Given the description of an element on the screen output the (x, y) to click on. 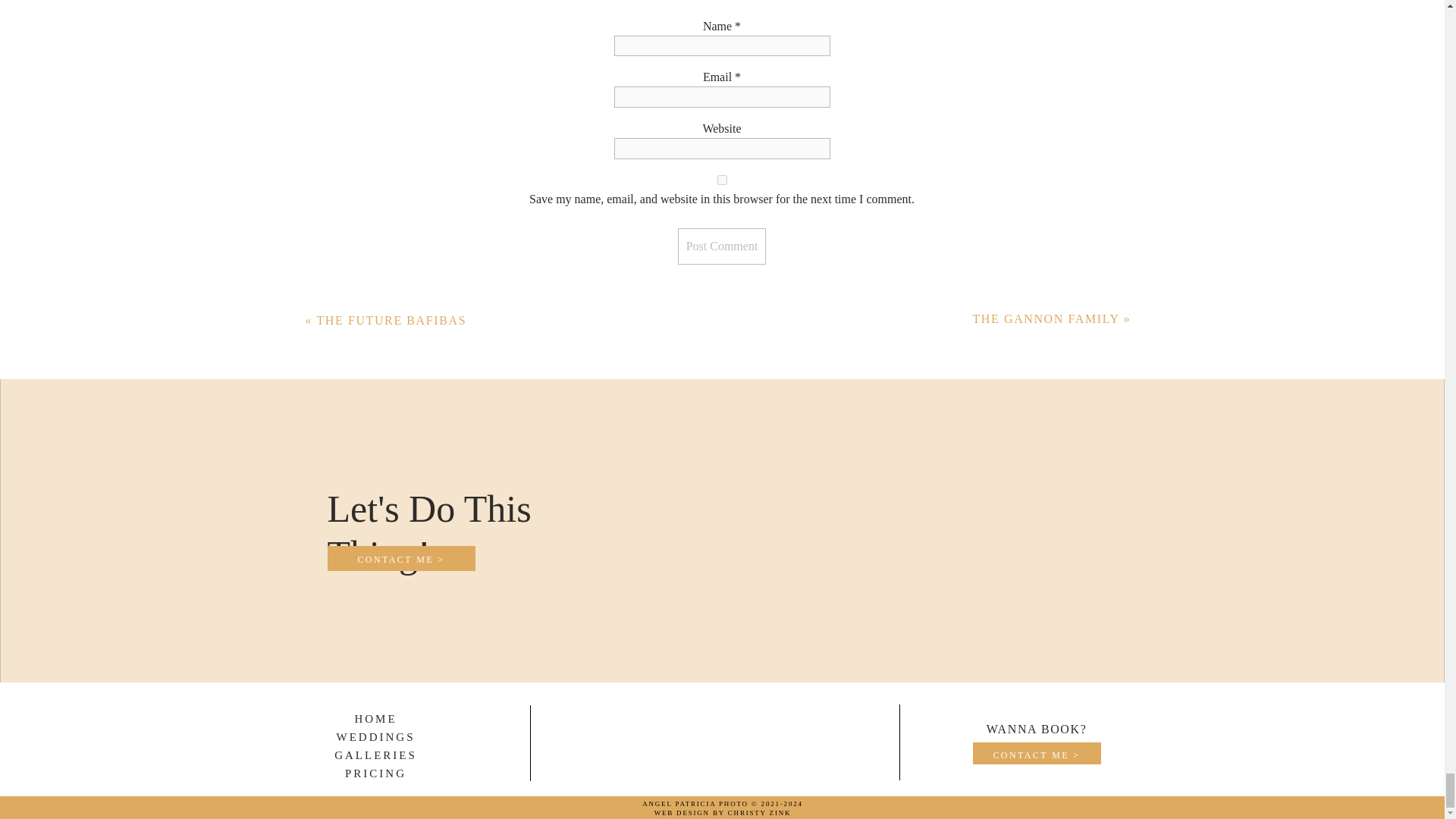
THE GANNON FAMILY (1045, 318)
yes (721, 180)
THE FUTURE BAFIBAS (390, 319)
WEDDINGS (375, 736)
Post Comment (722, 246)
PRICING (375, 773)
HOME (374, 718)
Post Comment (722, 246)
GALLERIES (375, 755)
